Given the description of an element on the screen output the (x, y) to click on. 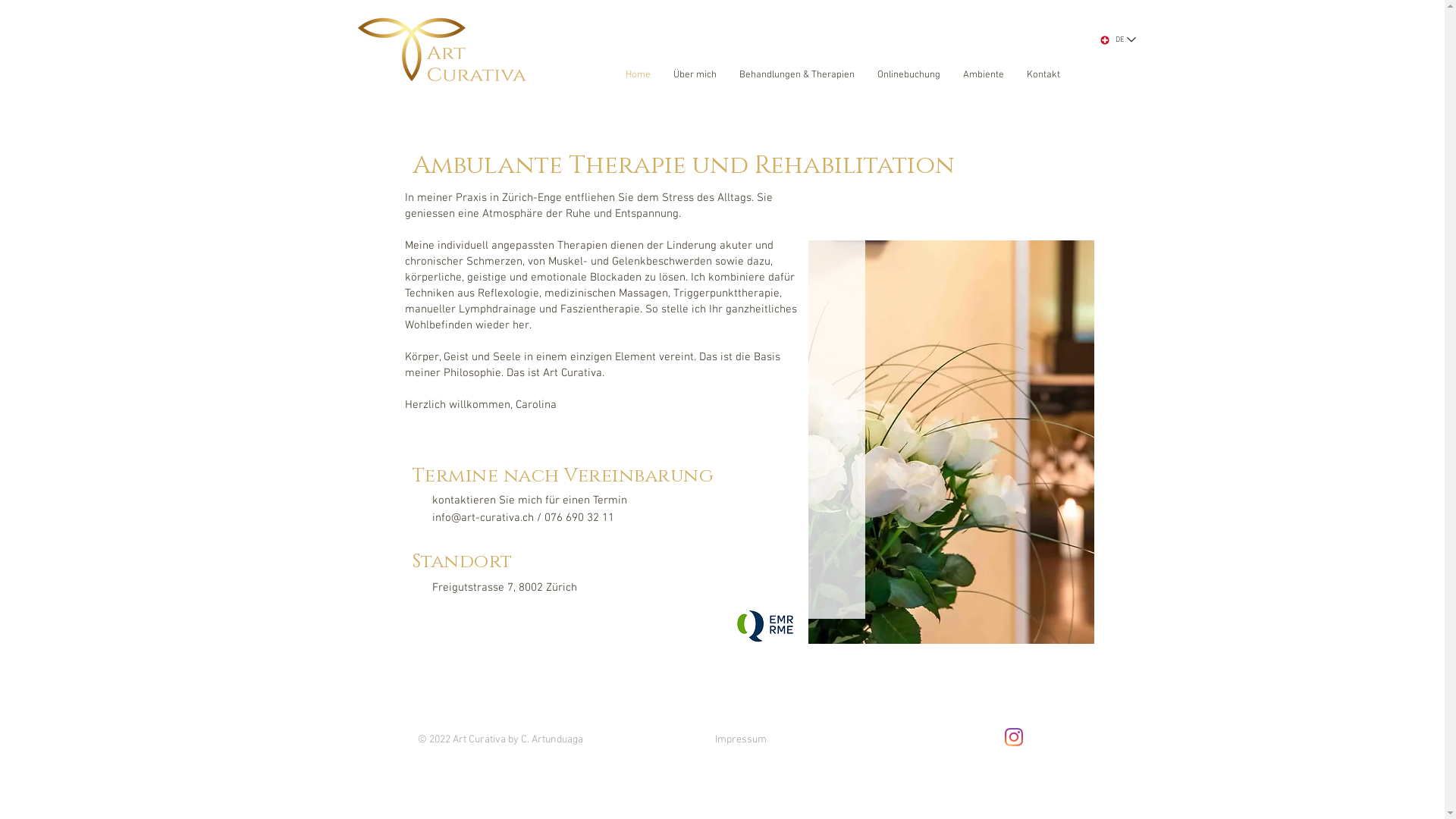
Impressum Element type: text (739, 739)
Onlinebuchung Element type: text (908, 74)
Ambiente Element type: text (982, 74)
Behandlungen & Therapien Element type: text (797, 74)
Home Element type: text (638, 74)
Kontakt Element type: text (1042, 74)
info@art-curativa.ch Element type: text (482, 517)
